Given the description of an element on the screen output the (x, y) to click on. 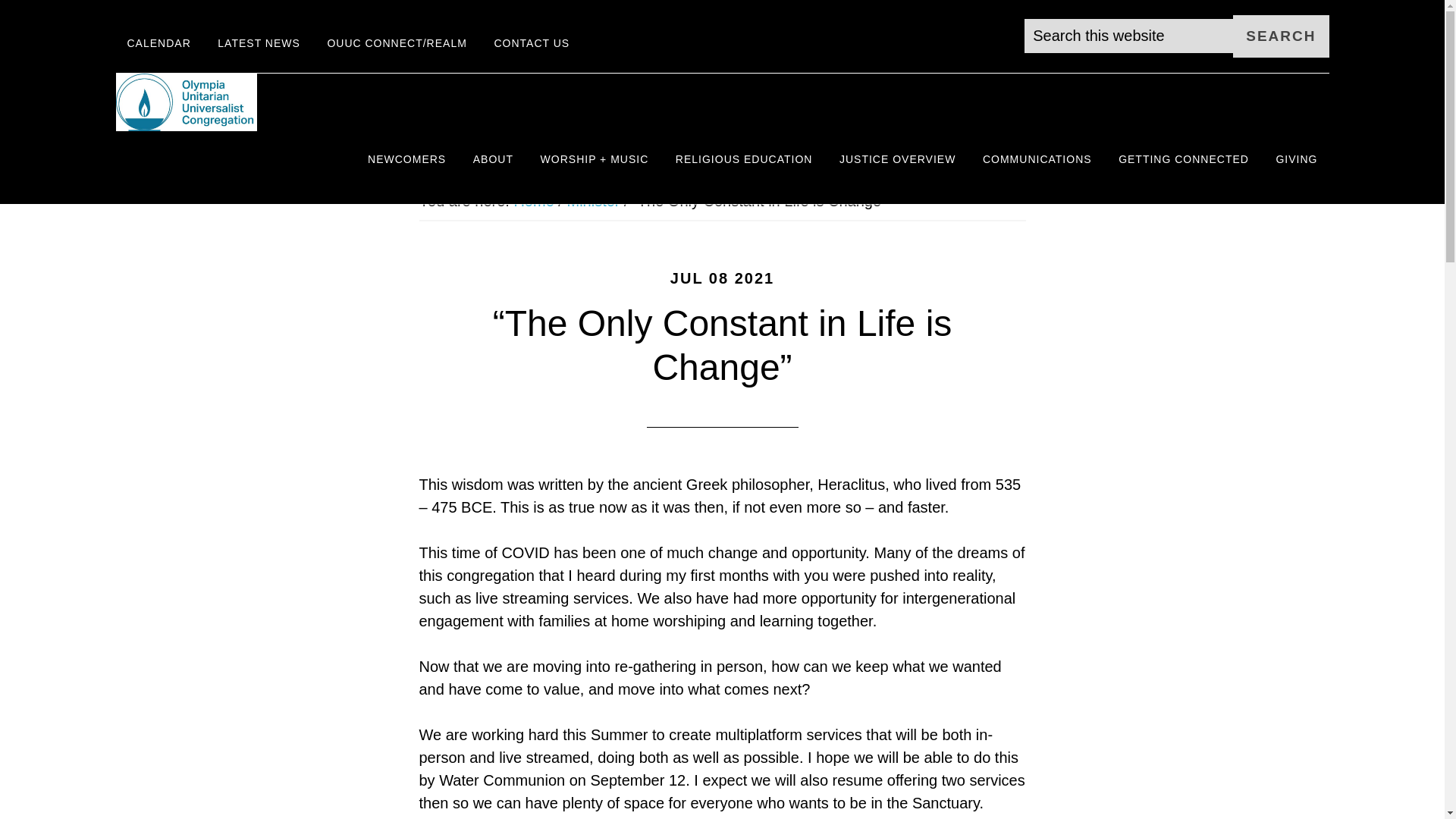
Search (1280, 36)
OUUC (251, 102)
JUSTICE OVERVIEW (897, 160)
Search (1280, 36)
CALENDAR (158, 43)
NEWCOMERS (406, 160)
ABOUT (492, 160)
Search (1280, 36)
CONTACT US (530, 43)
